Given the description of an element on the screen output the (x, y) to click on. 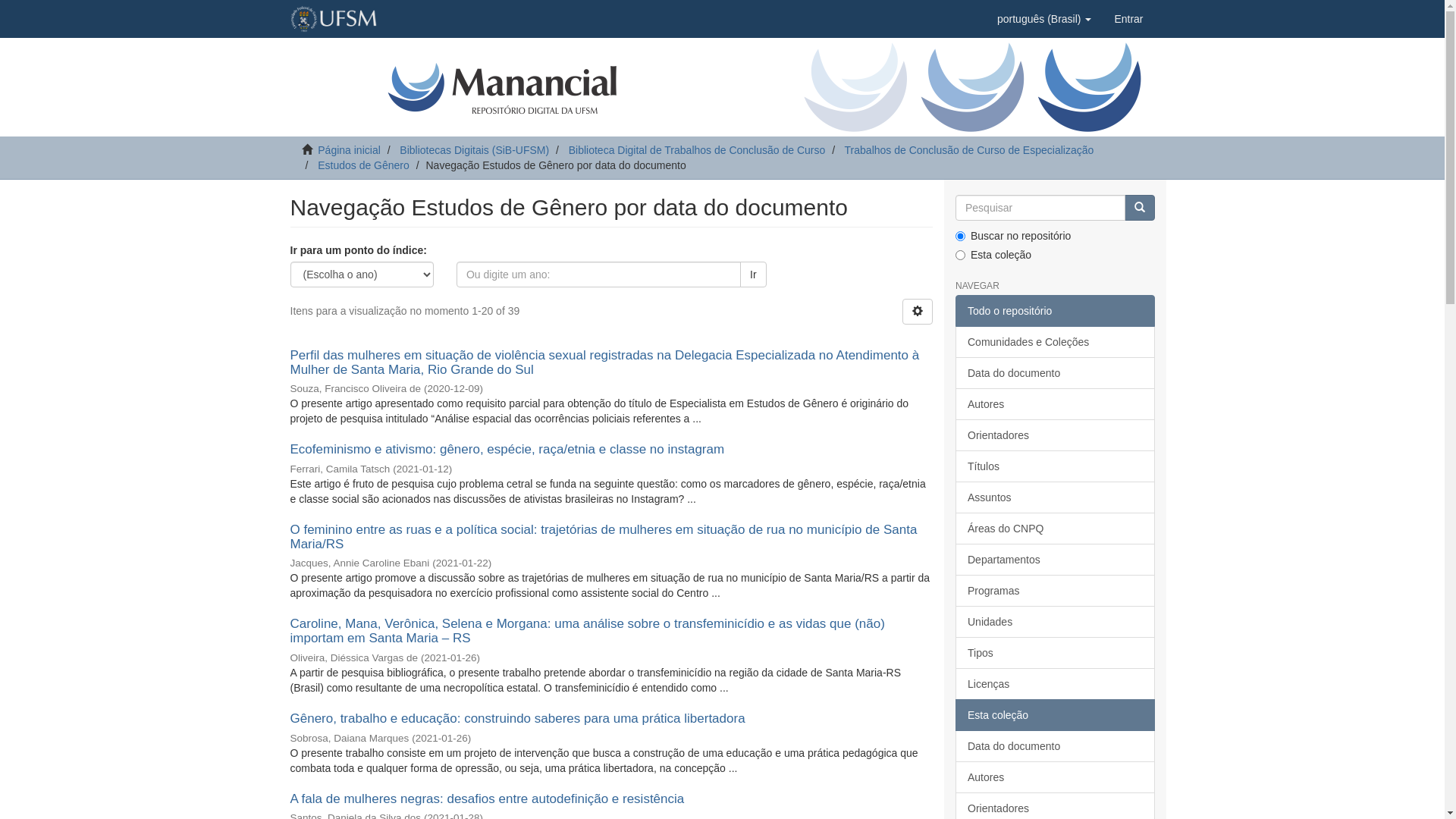
Bibliotecas Digitais (SiB-UFSM) Element type: text (474, 150)
Orientadores Element type: text (1054, 435)
Departamentos Element type: text (1054, 559)
Navegue pelos itens de um determinado ano. Element type: hover (598, 274)
Autores Element type: text (1054, 777)
Entrar Element type: text (1128, 18)
Assuntos Element type: text (1054, 497)
Data do documento Element type: text (1054, 373)
Autores Element type: text (1054, 404)
Ir Element type: text (753, 274)
Data do documento Element type: text (1054, 746)
Unidades Element type: text (1054, 621)
Universidade Federal de Santa Maria Element type: hover (332, 18)
Programas Element type: text (1054, 590)
Ir Element type: hover (1138, 207)
Tipos Element type: text (1054, 652)
